Given the description of an element on the screen output the (x, y) to click on. 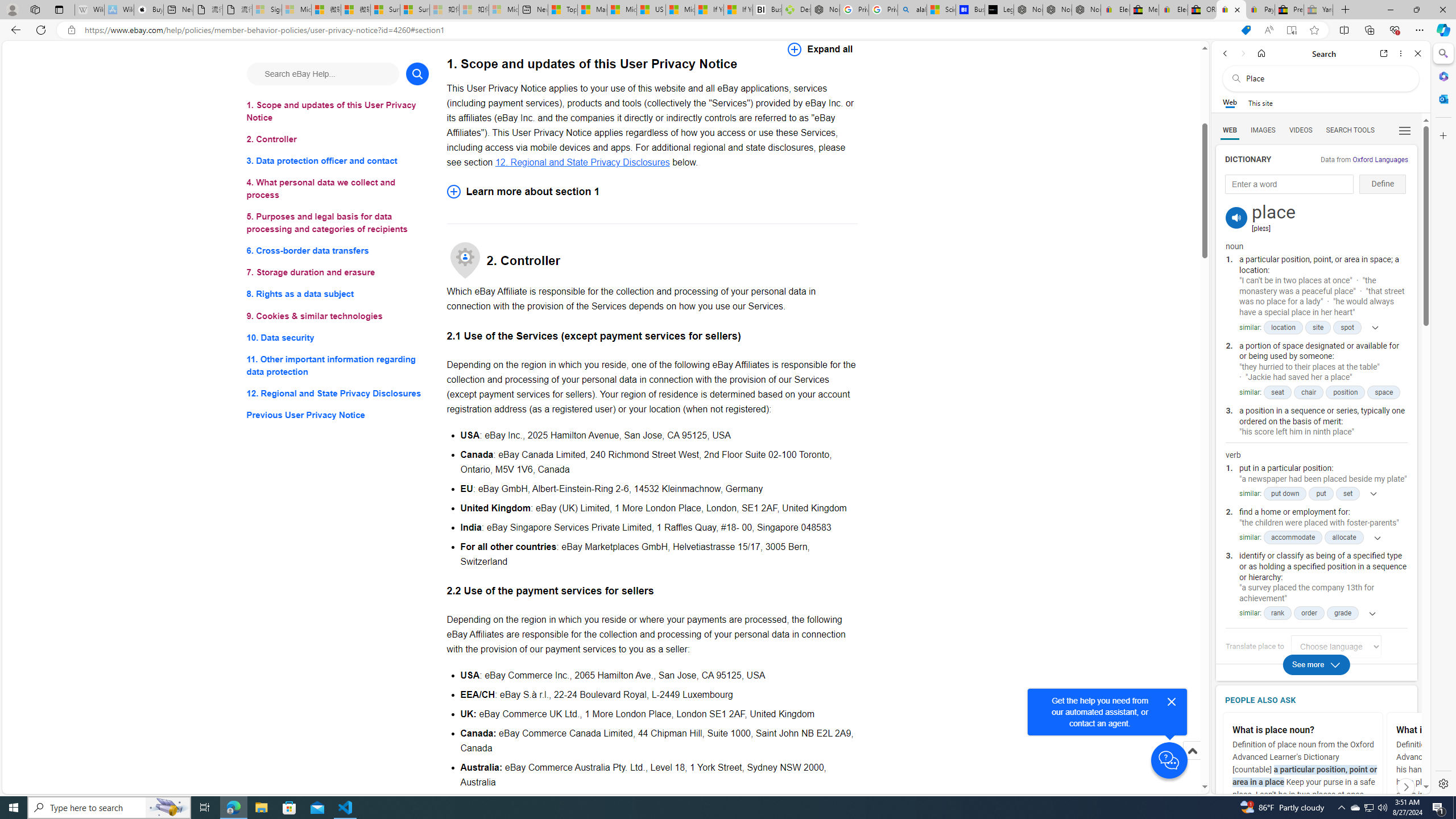
Search Filter, WEB (1230, 129)
1. Scope and updates of this User Privacy Notice (337, 111)
Press Room - eBay Inc. (1288, 9)
4. What personal data we collect and process (337, 189)
Previous User Privacy Notice (337, 414)
grade (1342, 613)
set (1347, 493)
